Given the description of an element on the screen output the (x, y) to click on. 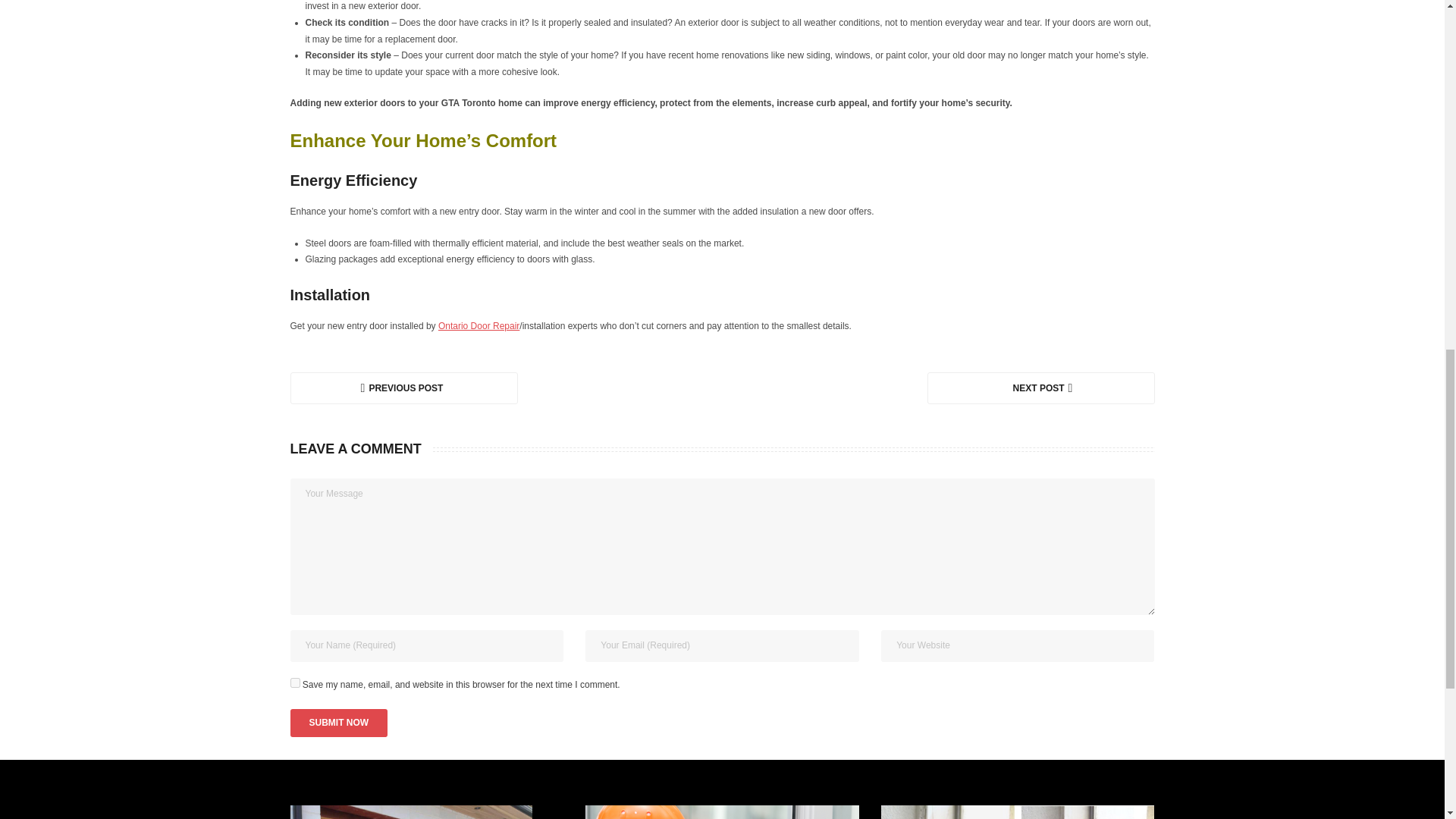
yes (294, 682)
Submit Now (338, 723)
